Given the description of an element on the screen output the (x, y) to click on. 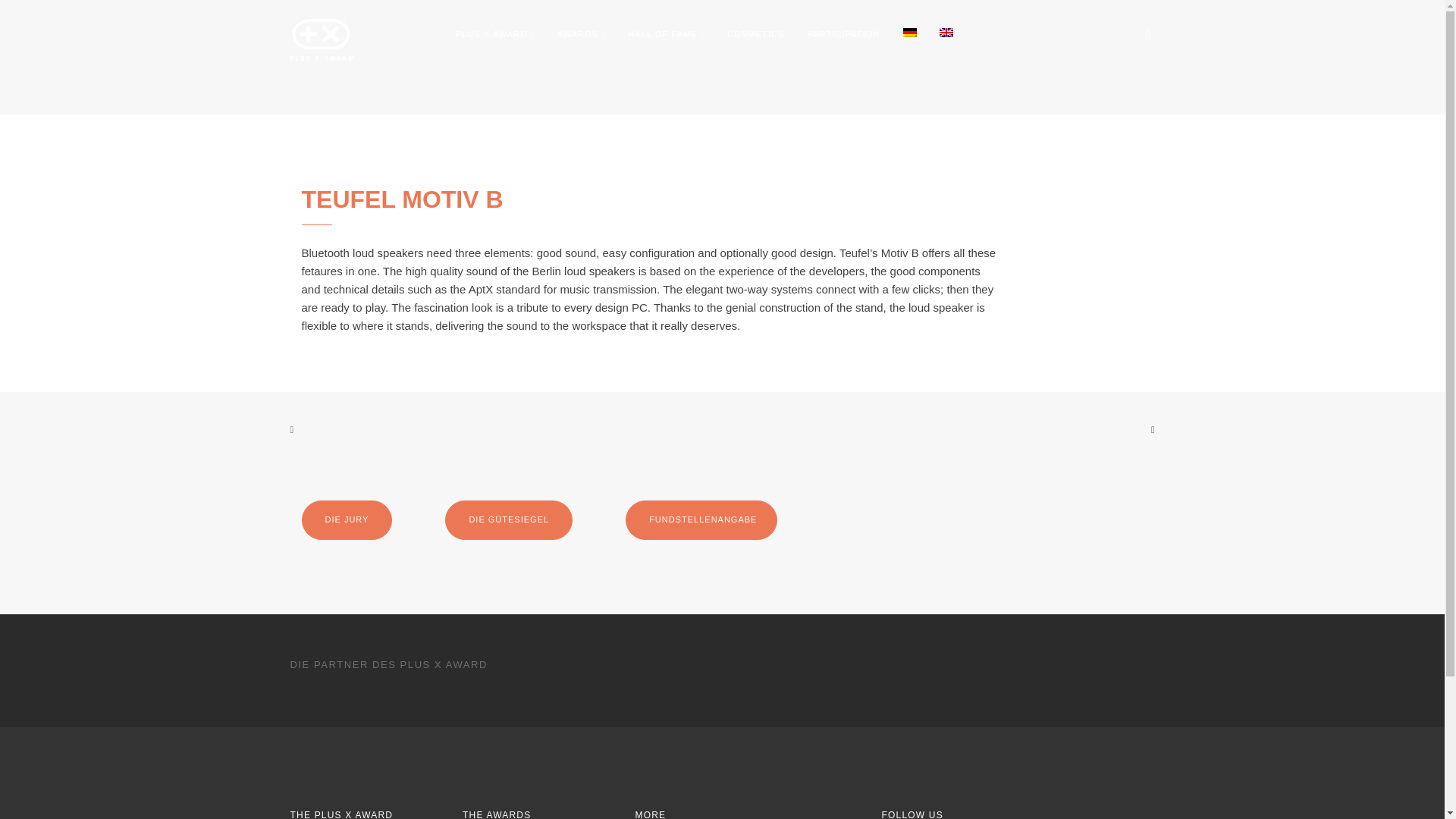
HALL OF FAME (665, 34)
AWARDS (580, 34)
COSMETICS (755, 34)
PLUS X AWARD (494, 34)
